Given the description of an element on the screen output the (x, y) to click on. 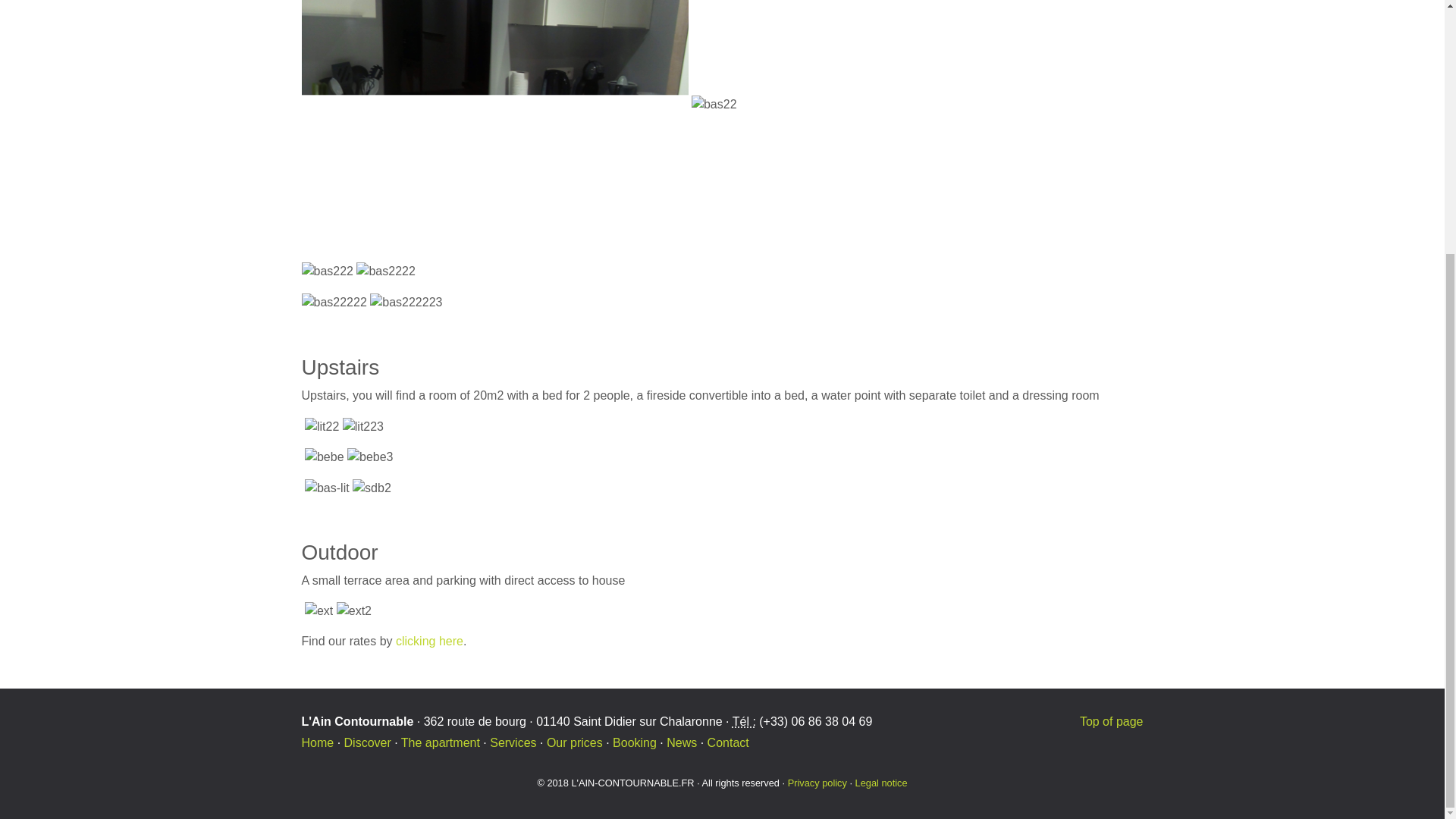
The apartment (440, 742)
clicking here (429, 640)
Discover (367, 742)
Check availabilities (634, 742)
See page Services (512, 742)
Our prices (574, 742)
Contact (728, 742)
Our news (681, 742)
See page The apartment (440, 742)
Home (317, 742)
